Given the description of an element on the screen output the (x, y) to click on. 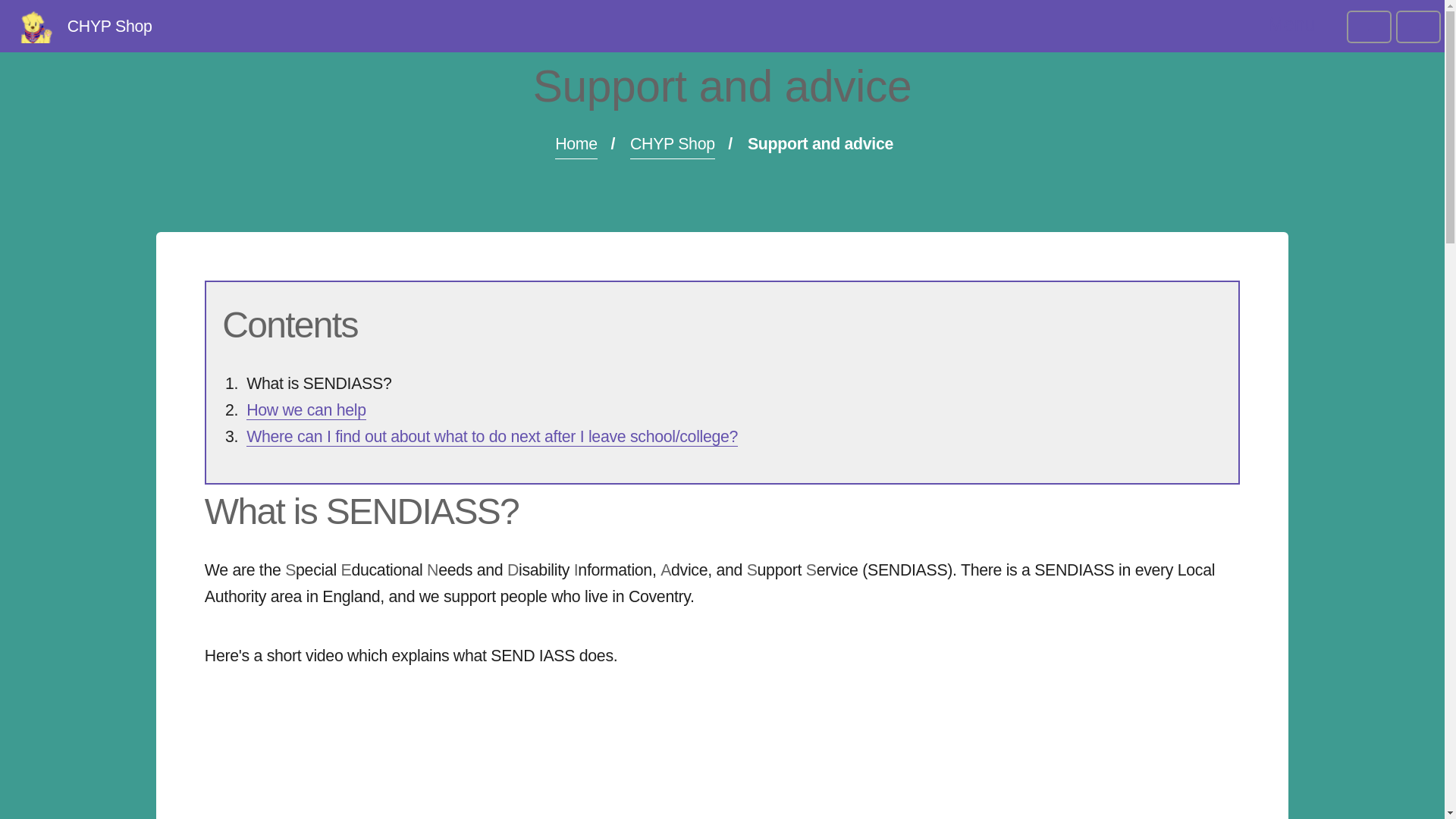
Home (575, 144)
. (1368, 26)
Menu (1291, 25)
About SENDIASS (416, 760)
How we can help (306, 410)
CHYP Shop (672, 144)
CHYP Shop (86, 26)
. (1418, 26)
